Given the description of an element on the screen output the (x, y) to click on. 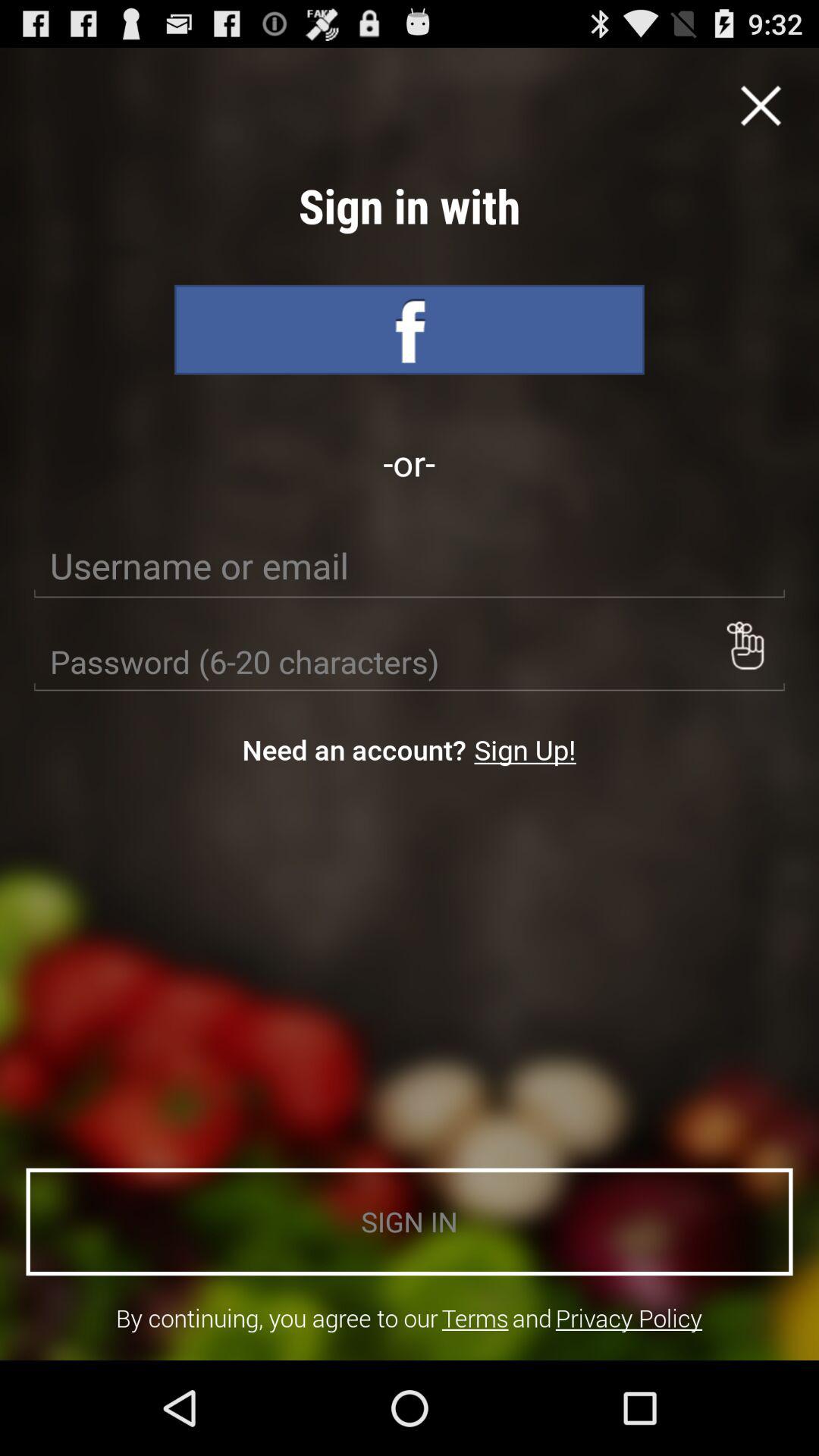
show password option (744, 645)
